Given the description of an element on the screen output the (x, y) to click on. 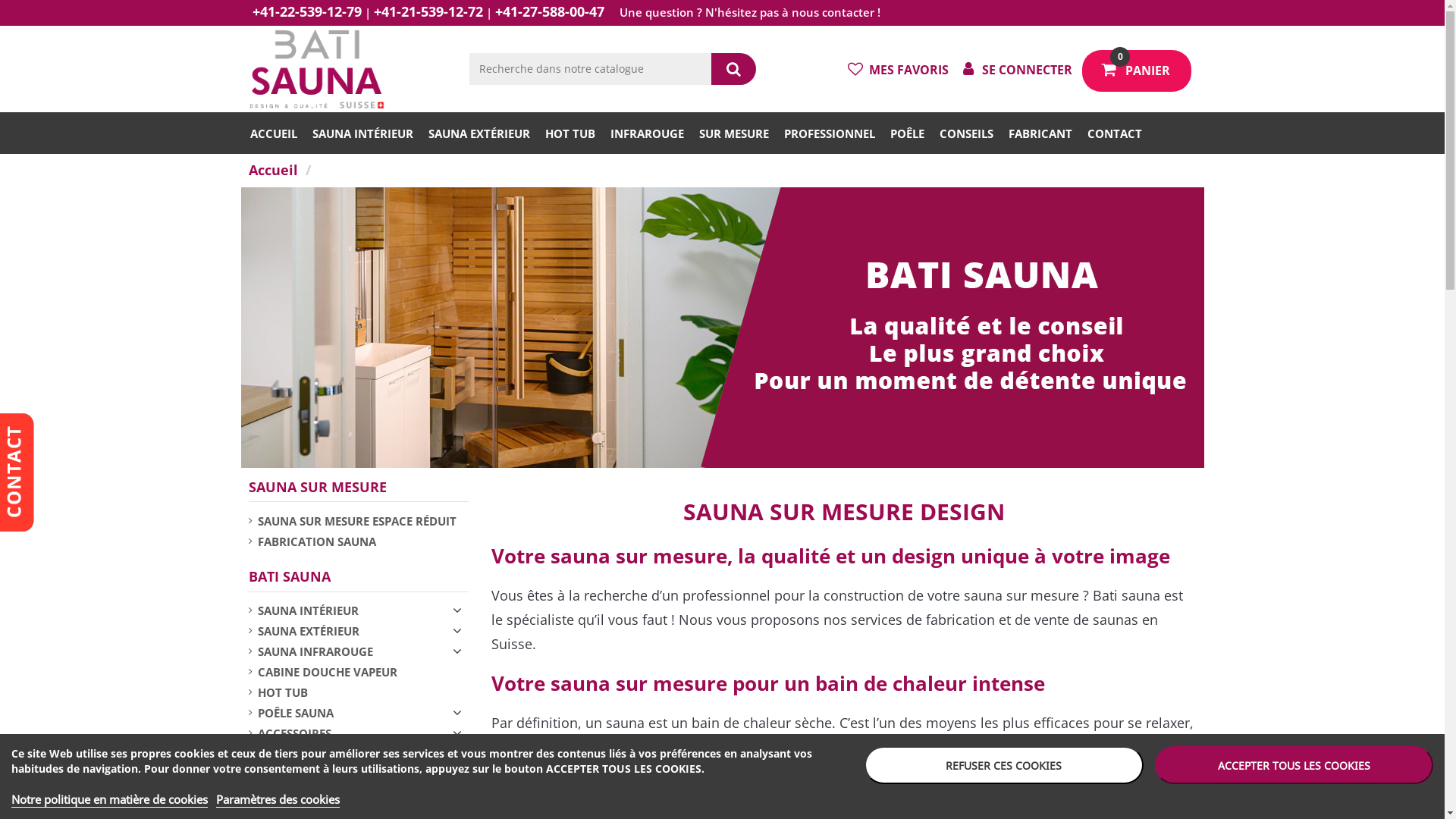
Accueil Element type: text (274, 169)
SE CONNECTER Element type: text (1015, 68)
HOT TUB Element type: text (568, 132)
CONTACT Element type: text (1113, 132)
PROFESSIONNEL Element type: text (828, 132)
CABINE DOUCHE VAPEUR Element type: text (322, 671)
SUR MESURE Element type: text (733, 132)
MES FAVORIS Element type: text (896, 68)
BATI SAUNA Element type: text (289, 576)
+41-22-539-12-79 Element type: text (305, 11)
ACCEPTER TOUS LES COOKIES Element type: text (1293, 765)
FABRICATION SAUNA Element type: text (312, 541)
REFUSER CES COOKIES Element type: text (1003, 765)
INFRAROUGE Element type: text (646, 132)
CONSEILS Element type: text (965, 132)
ACCUEIL Element type: text (273, 132)
ACCESSOIRES Element type: text (289, 732)
FABRICANT Element type: text (1040, 132)
0
PANIER   Element type: text (1144, 68)
SAUNA SUR MESURE Element type: text (317, 486)
SAUNA INFRAROUGE Element type: text (310, 650)
+41-27-588-00-47 Element type: text (548, 11)
+41-21-539-12-72 Element type: text (427, 11)
HOT TUB Element type: text (277, 691)
